Given the description of an element on the screen output the (x, y) to click on. 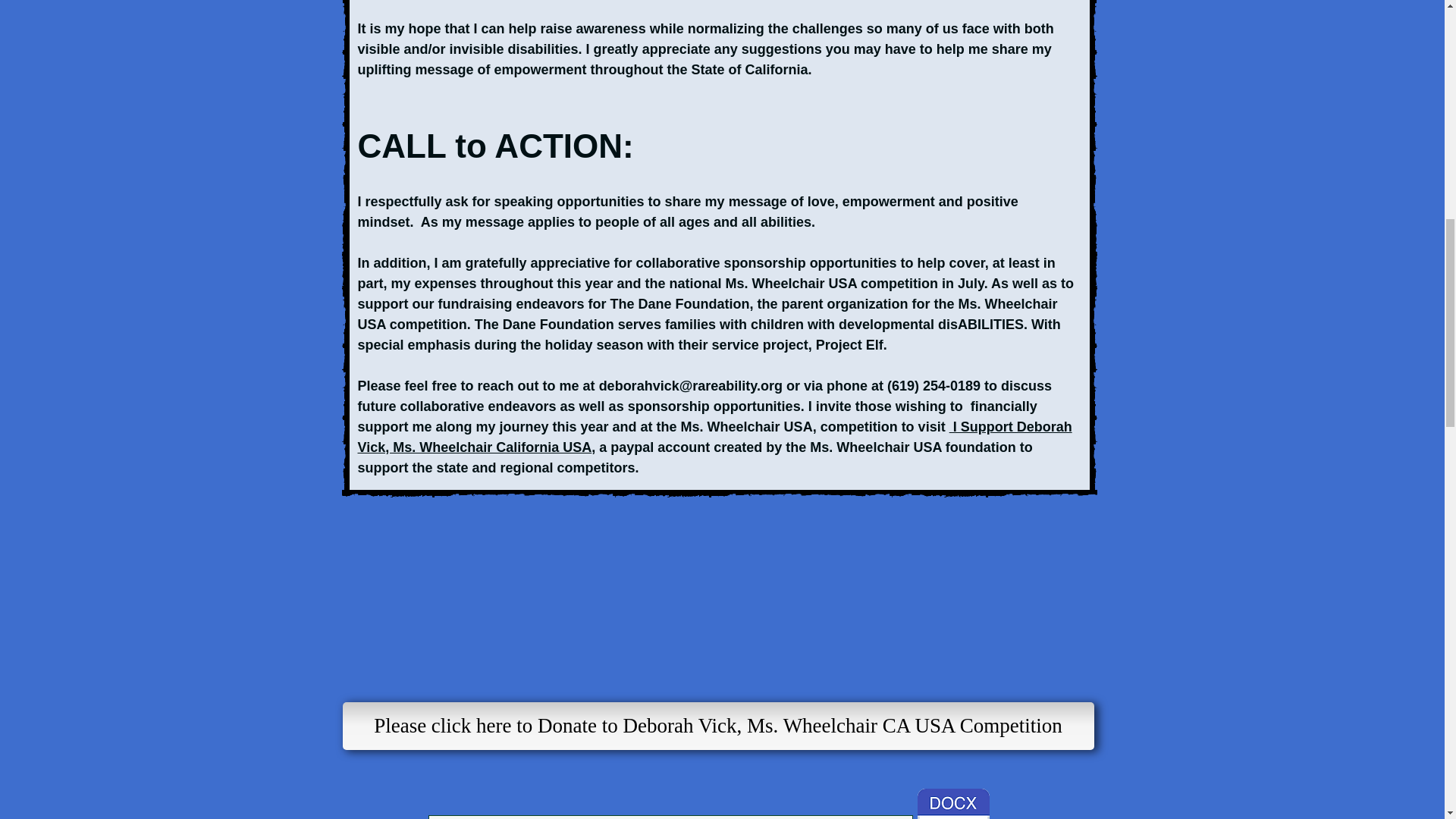
 I Support Deborah Vick, Ms. Wheelchair California USA (714, 437)
Biographical Highlights.rtf (953, 803)
